Given the description of an element on the screen output the (x, y) to click on. 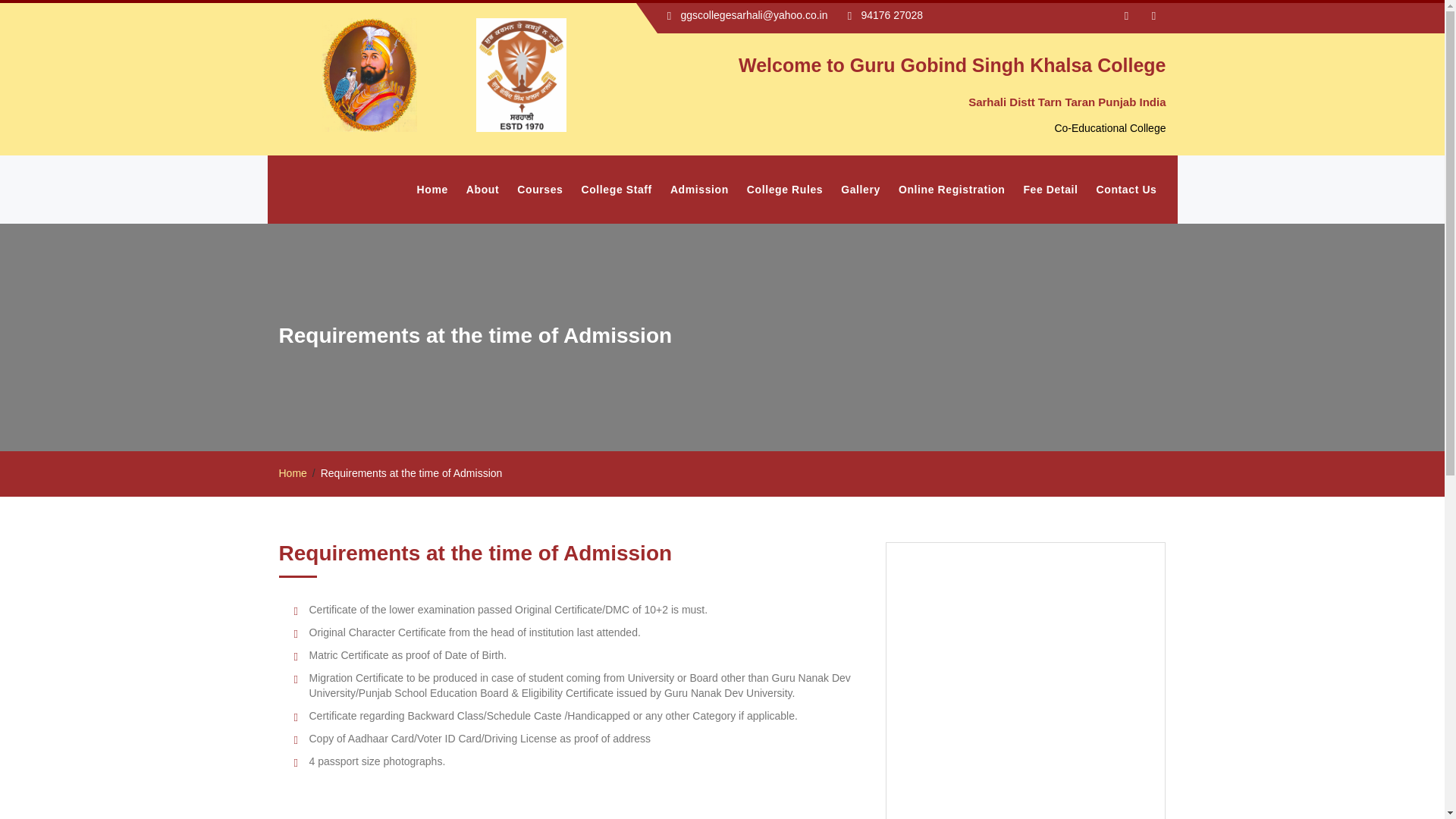
About (482, 189)
Home (432, 189)
94176 27028 (891, 15)
College Staff (616, 189)
Courses (540, 189)
